Given the description of an element on the screen output the (x, y) to click on. 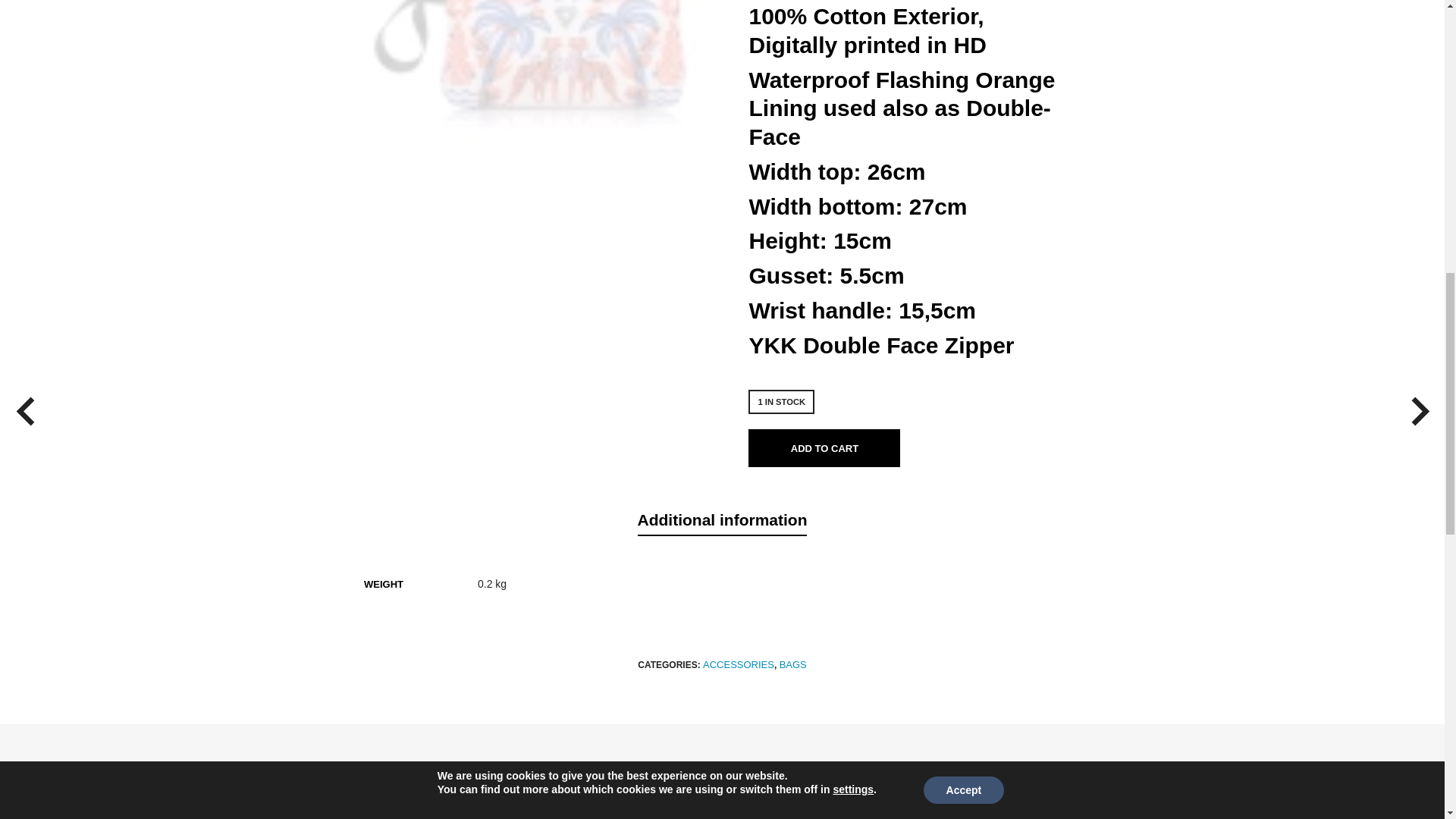
COTTON LOW OCELOT (537, 119)
